Given the description of an element on the screen output the (x, y) to click on. 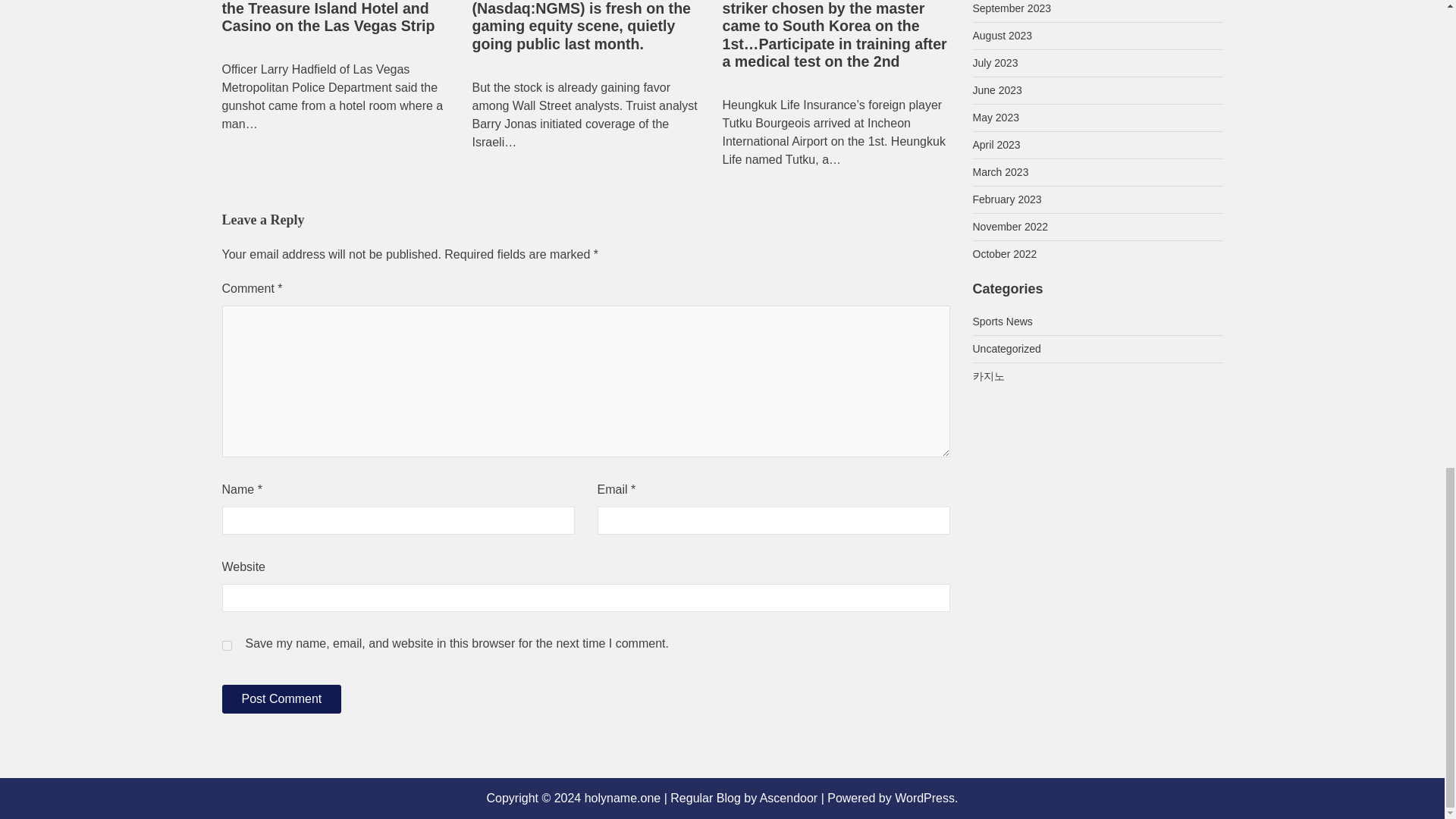
Post Comment (280, 698)
yes (226, 645)
Post Comment (280, 698)
